Given the description of an element on the screen output the (x, y) to click on. 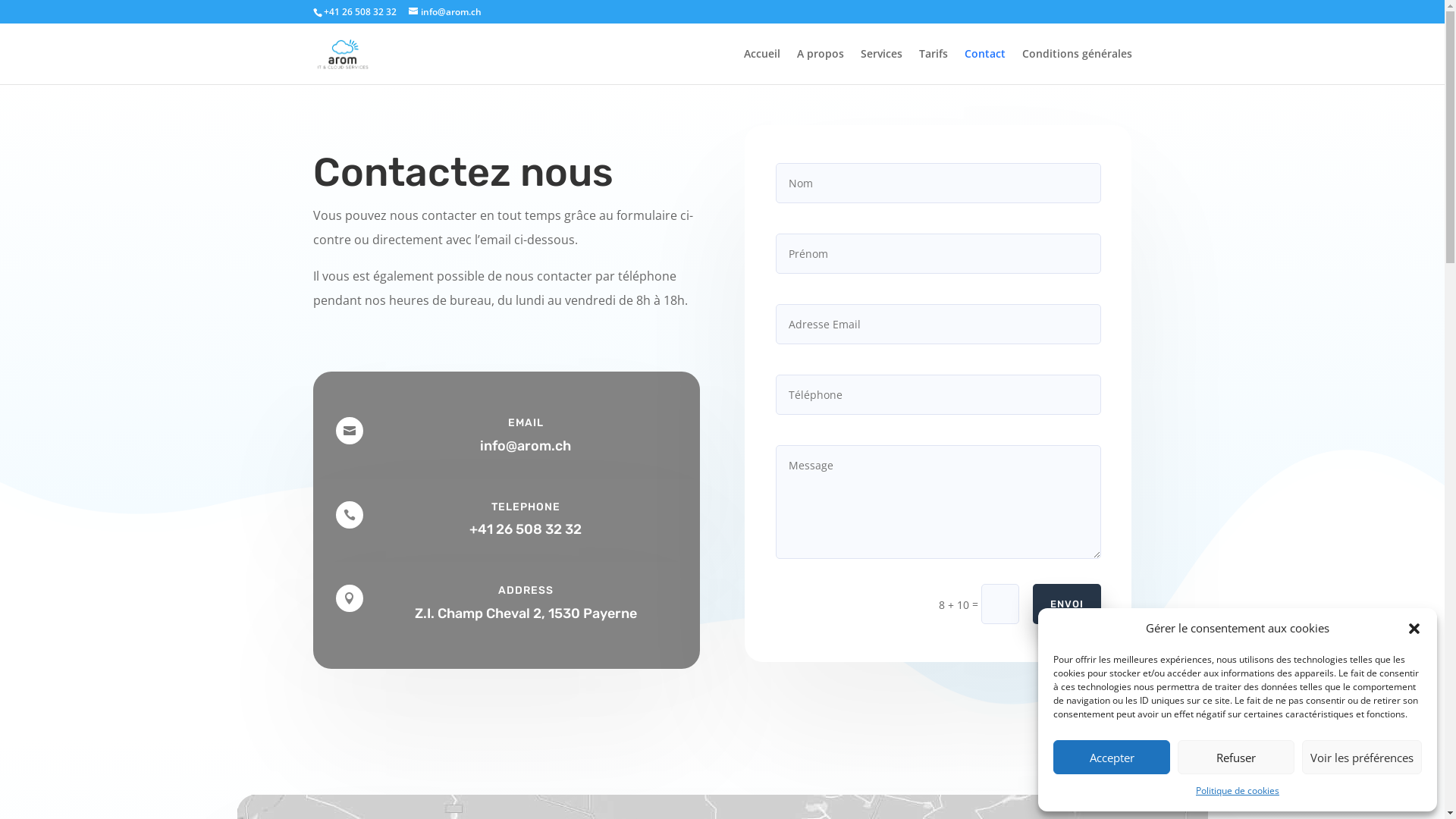
A propos Element type: text (819, 66)
Accepter Element type: text (1111, 757)
ENVOI Element type: text (1066, 603)
Tarifs Element type: text (933, 66)
Services Element type: text (880, 66)
Contact Element type: text (984, 66)
Refuser Element type: text (1235, 757)
Accueil Element type: text (761, 66)
Politique de cookies Element type: text (1237, 790)
info@arom.ch Element type: text (443, 11)
